Given the description of an element on the screen output the (x, y) to click on. 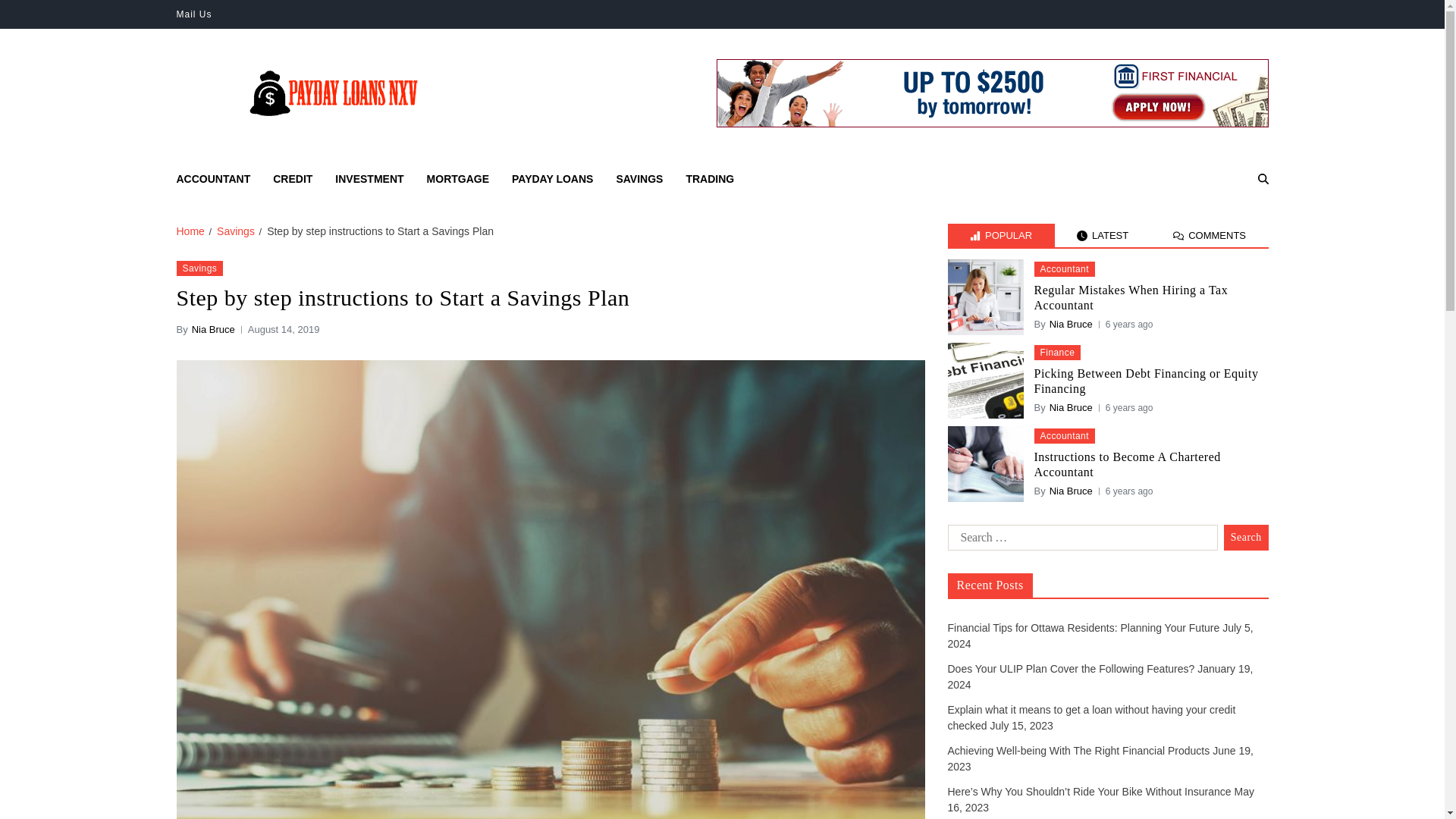
COMMENTS (1209, 235)
Nia Bruce (1071, 324)
Accountant (1063, 268)
Home (189, 231)
TRADING (709, 179)
SAVINGS (638, 179)
Nia Bruce (213, 329)
Finance (1057, 352)
Search (1224, 231)
Nia Bruce (1071, 407)
Regular Mistakes When Hiring a Tax Accountant (1150, 297)
MORTGAGE (457, 179)
ACCOUNTANT (213, 179)
LATEST (1102, 235)
CREDIT (293, 179)
